Given the description of an element on the screen output the (x, y) to click on. 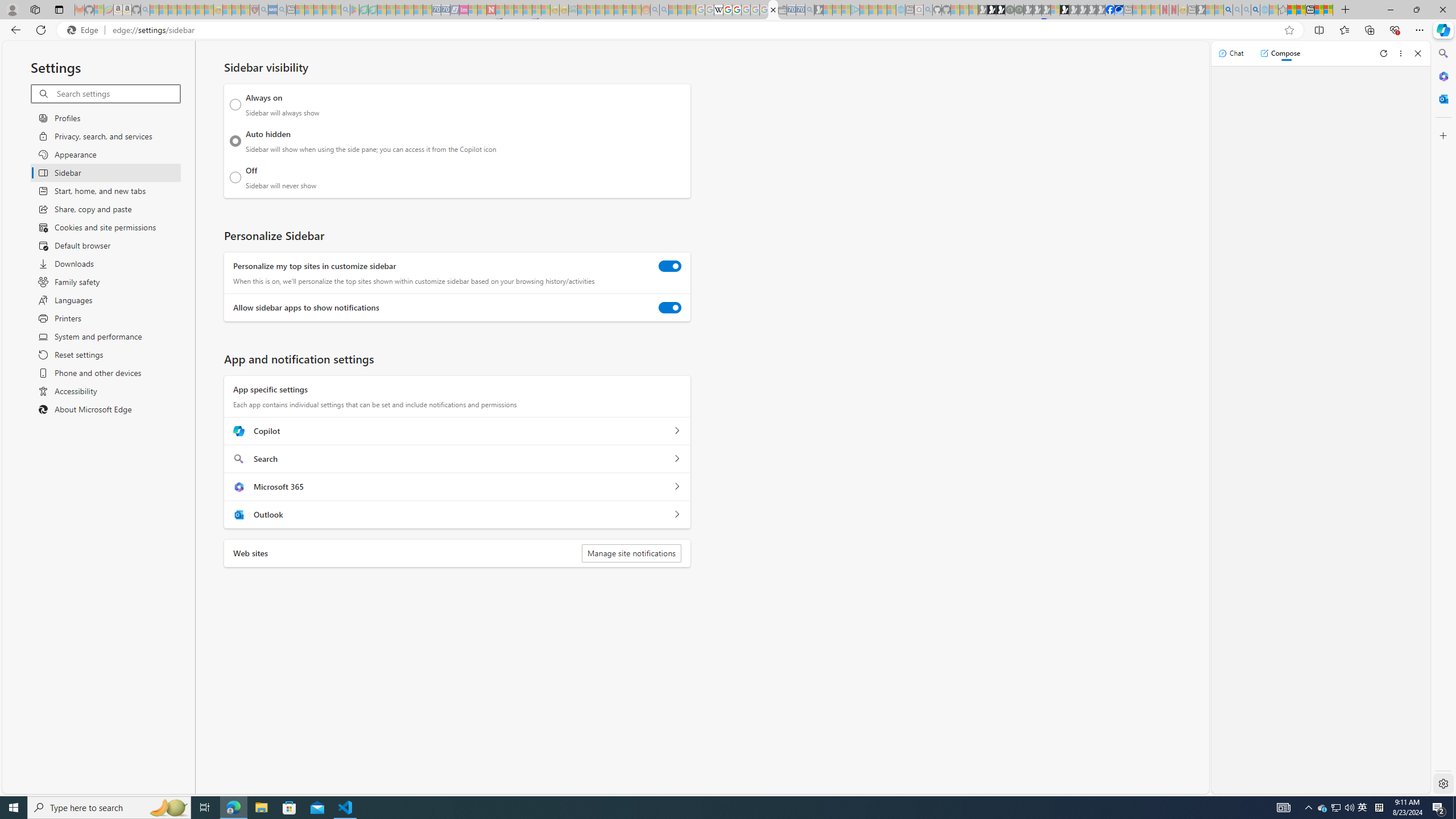
Search settings (117, 93)
